Given the description of an element on the screen output the (x, y) to click on. 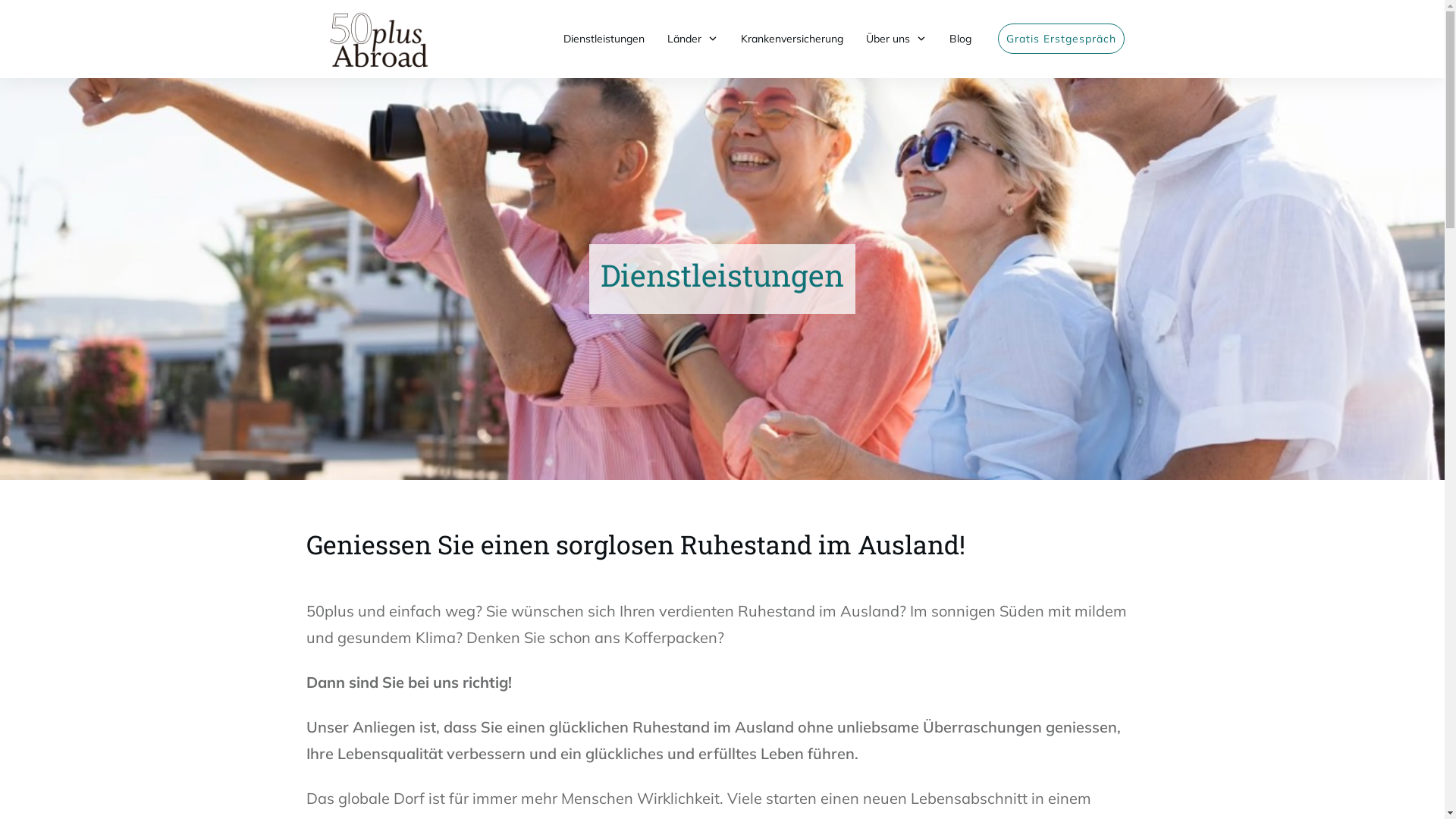
Blog Element type: text (960, 38)
Krankenversicherung Element type: text (791, 38)
Dienstleistungen Element type: text (602, 38)
